Given the description of an element on the screen output the (x, y) to click on. 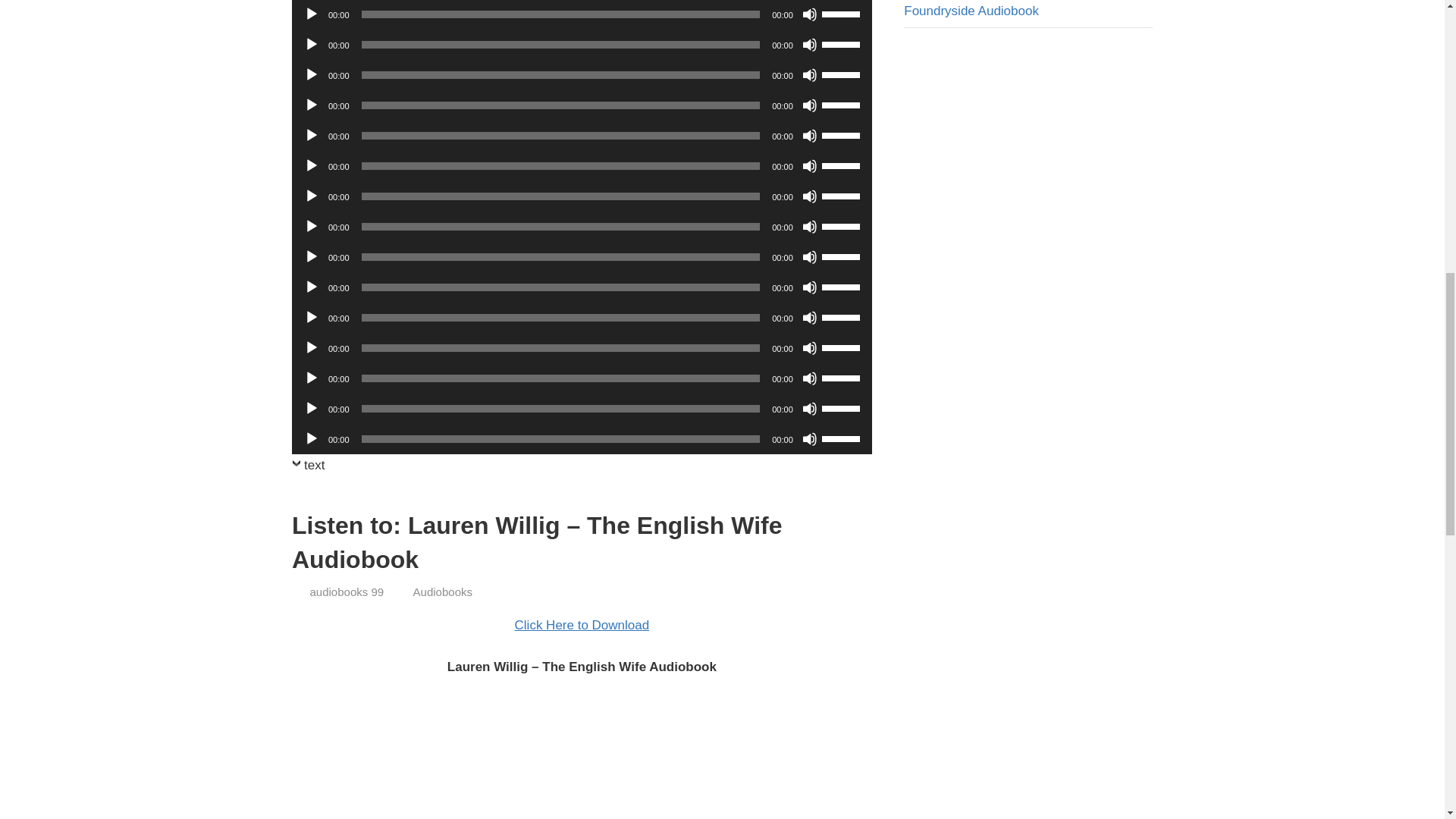
Mute (809, 105)
Play (311, 105)
Play (311, 196)
Play (311, 14)
Mute (809, 196)
Play (311, 74)
Mute (809, 14)
Play (311, 165)
Play (311, 135)
Mute (809, 44)
